Given the description of an element on the screen output the (x, y) to click on. 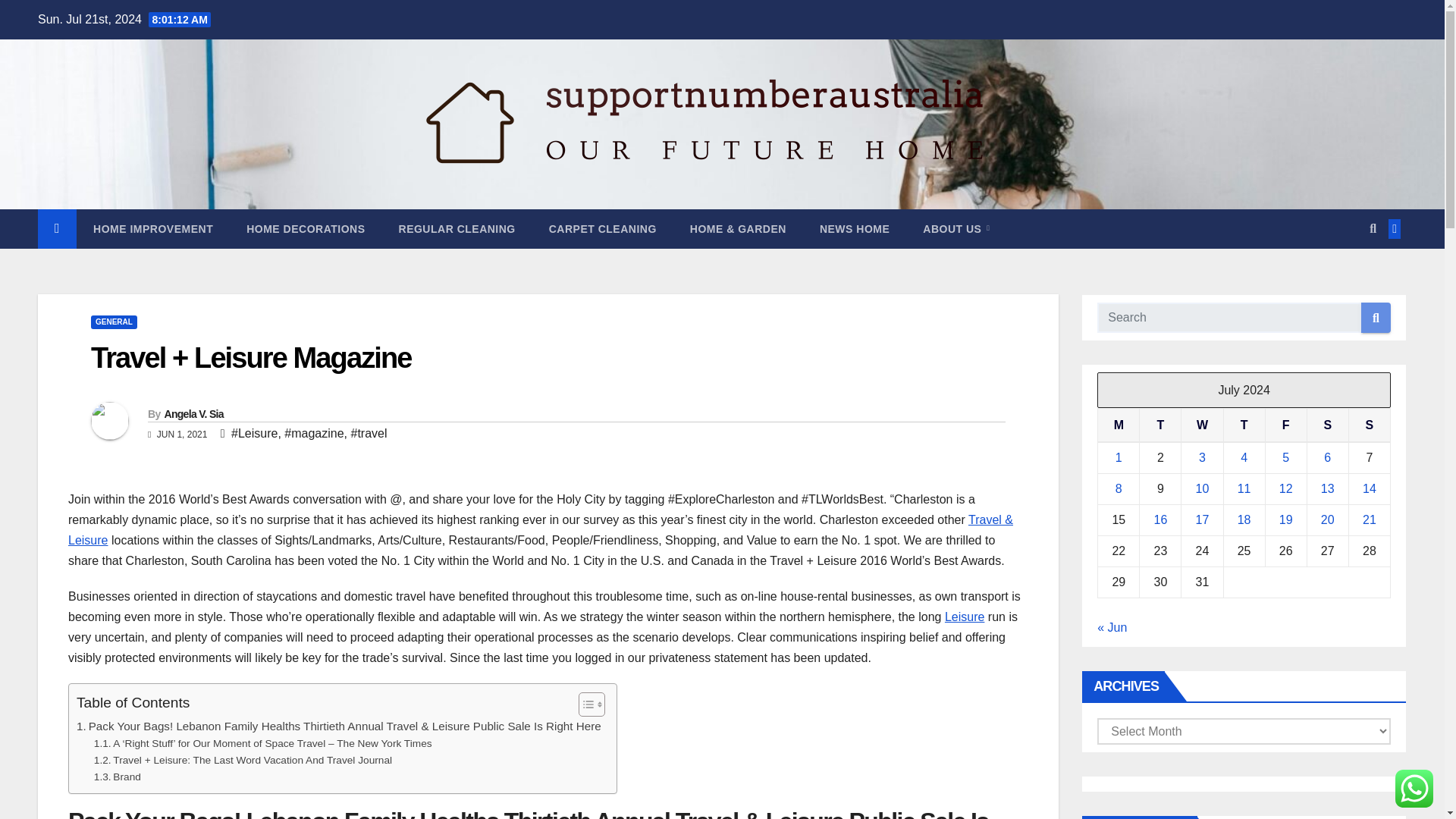
Regular Cleaning (456, 228)
Home Decorations (305, 228)
Brand (117, 777)
GENERAL (113, 322)
HOME IMPROVEMENT (153, 228)
Angela V. Sia (192, 413)
CARPET CLEANING (602, 228)
NEWS HOME (854, 228)
Leisure (964, 616)
News Home (854, 228)
Carpet Cleaning (602, 228)
HOME DECORATIONS (305, 228)
About Us (955, 228)
Home Improvement (153, 228)
REGULAR CLEANING (456, 228)
